Given the description of an element on the screen output the (x, y) to click on. 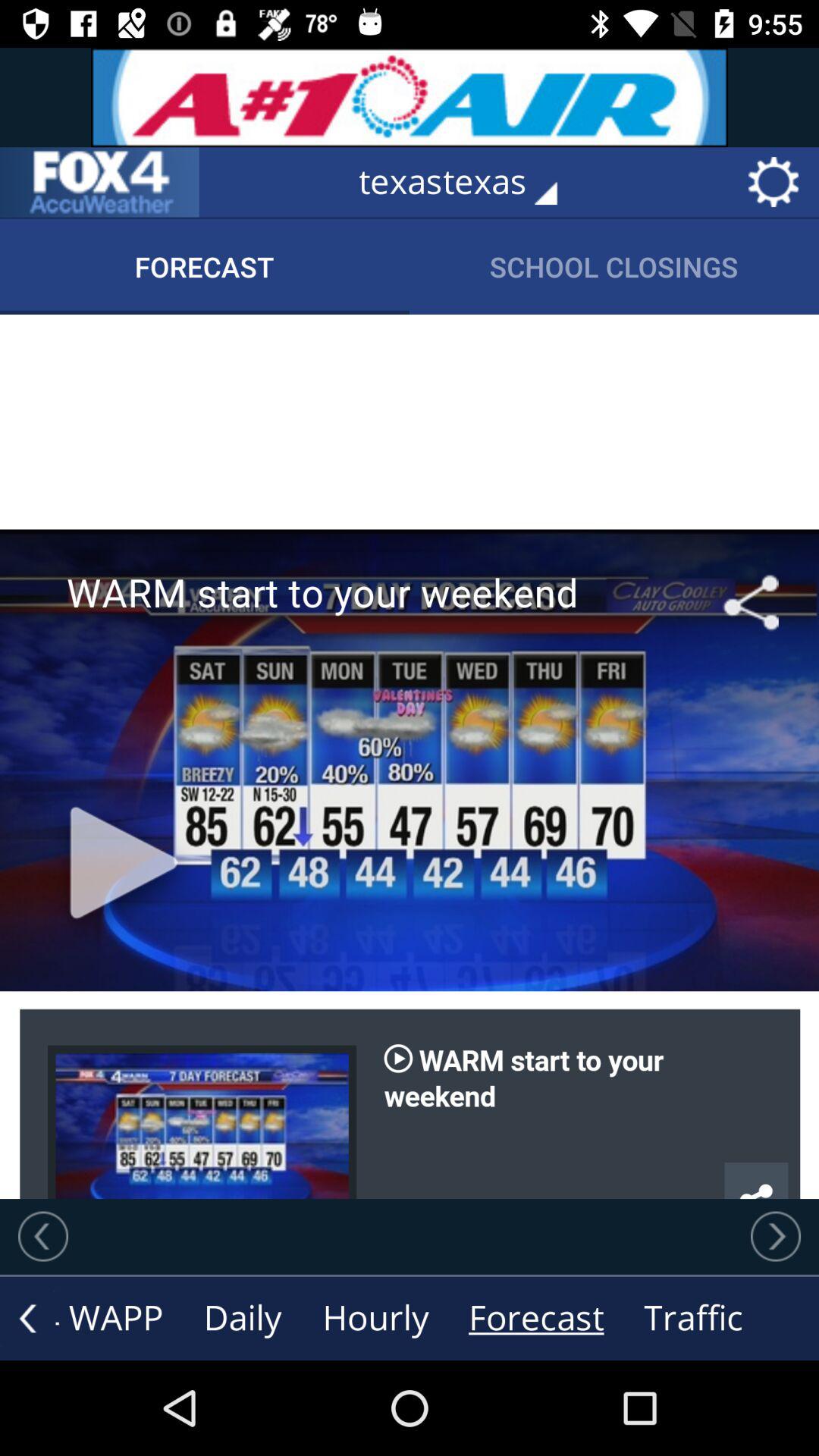
go to the advertisement on top (409, 97)
